Given the description of an element on the screen output the (x, y) to click on. 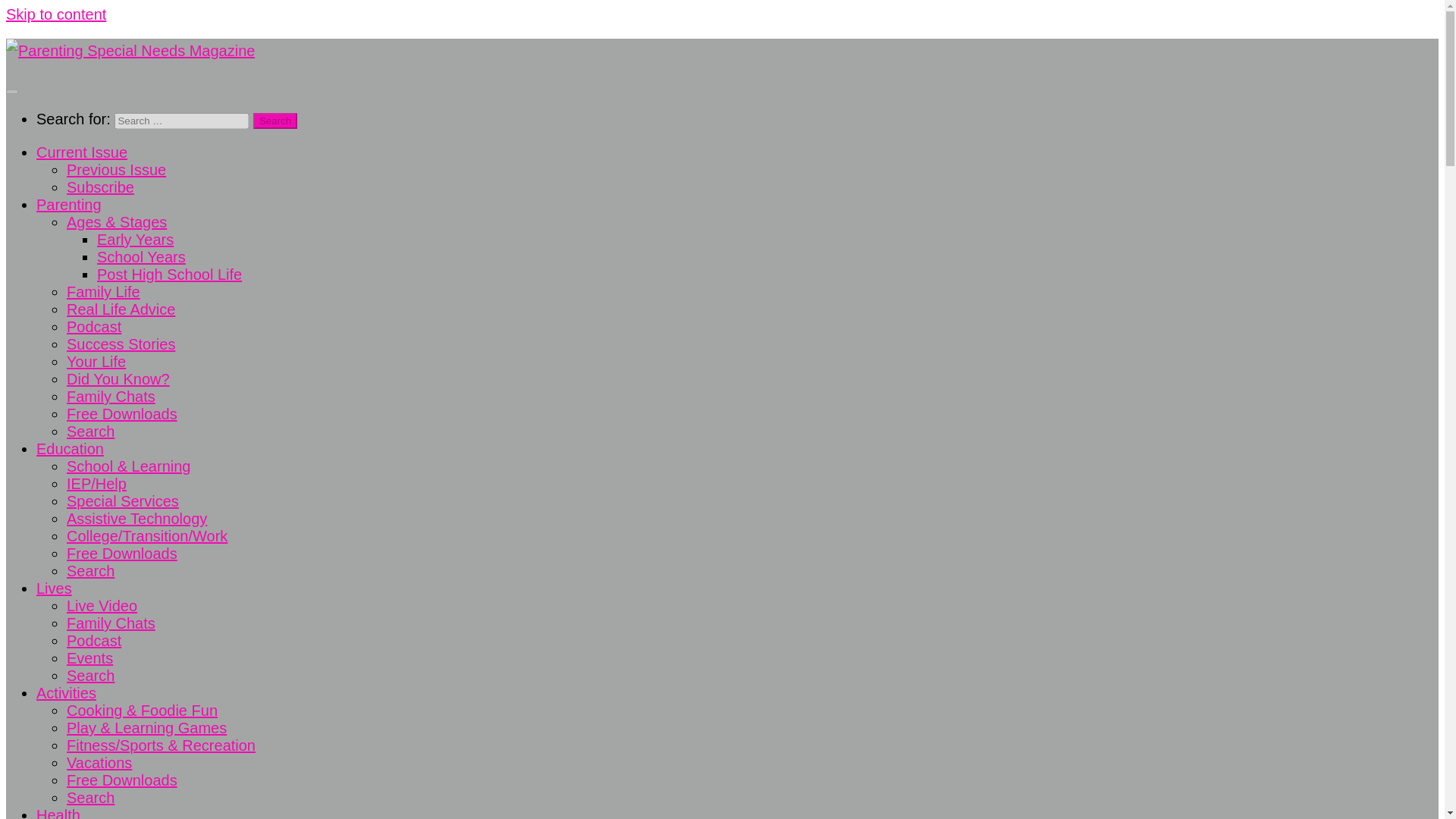
Parenting (68, 204)
Lives (53, 588)
School Years (141, 256)
Search (275, 120)
Vacations (99, 762)
Previous Issue (115, 169)
Search (275, 120)
Current Issue (82, 152)
Search (90, 570)
Search (90, 675)
